Given the description of an element on the screen output the (x, y) to click on. 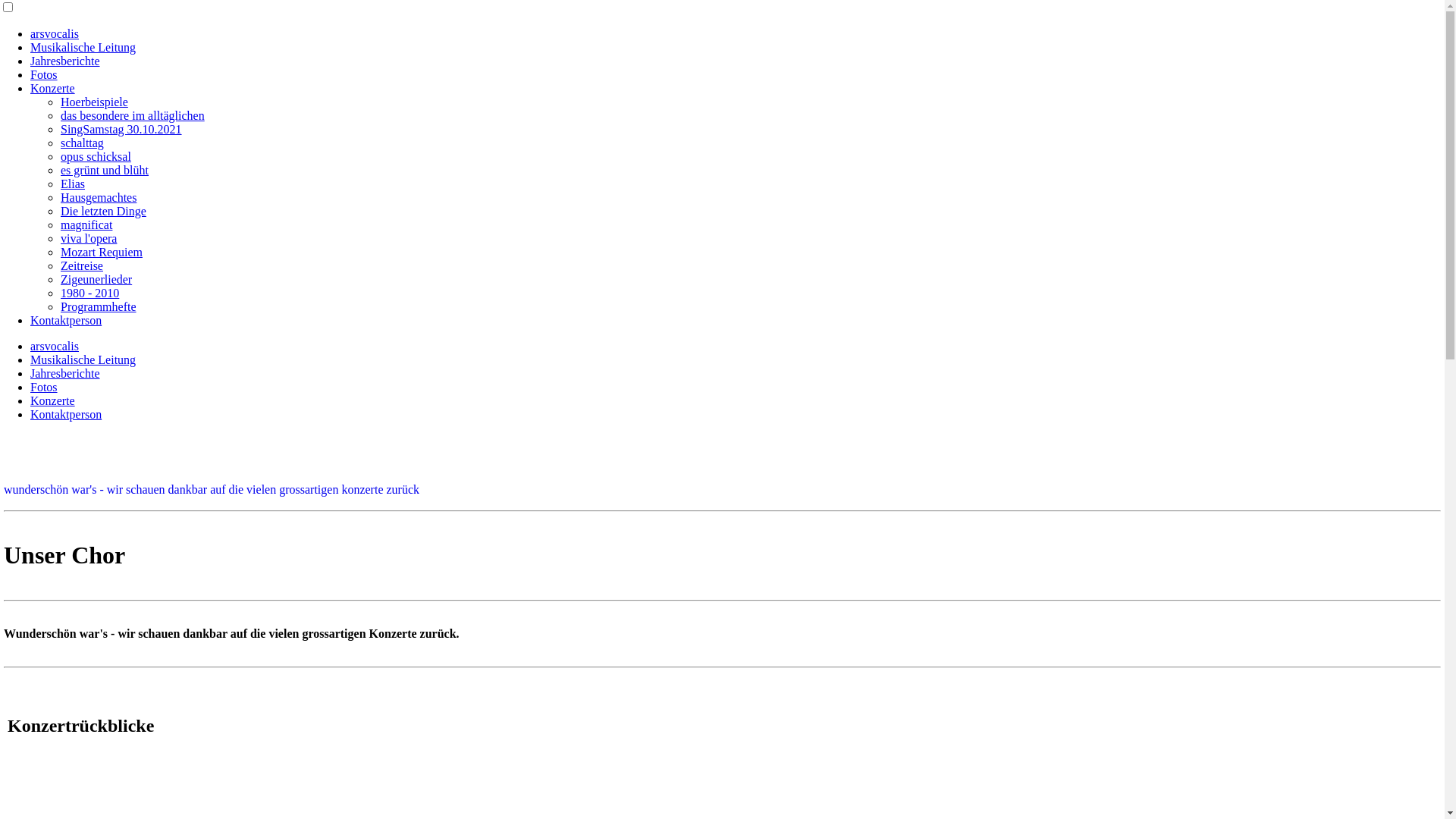
Jahresberichte Element type: text (65, 373)
Die letzten Dinge Element type: text (103, 210)
Fotos Element type: text (43, 386)
Zeitreise Element type: text (81, 265)
Hoerbeispiele Element type: text (94, 101)
Jahresberichte Element type: text (65, 60)
Elias Element type: text (72, 183)
1980 - 2010 Element type: text (89, 292)
Konzerte Element type: text (52, 400)
Programmhefte Element type: text (98, 306)
Mozart Requiem Element type: text (101, 251)
Musikalische Leitung Element type: text (82, 359)
SingSamstag 30.10.2021 Element type: text (121, 128)
Konzerte Element type: text (52, 87)
viva l'opera Element type: text (88, 238)
Musikalische Leitung Element type: text (82, 46)
schalttag Element type: text (81, 142)
Kontaktperson Element type: text (65, 319)
Zigeunerlieder Element type: text (95, 279)
Kontaktperson Element type: text (65, 413)
arsvocalis Element type: text (54, 33)
Fotos Element type: text (43, 74)
arsvocalis Element type: text (54, 345)
magnificat Element type: text (86, 224)
Hausgemachtes Element type: text (98, 197)
opus schicksal Element type: text (95, 156)
